Given the description of an element on the screen output the (x, y) to click on. 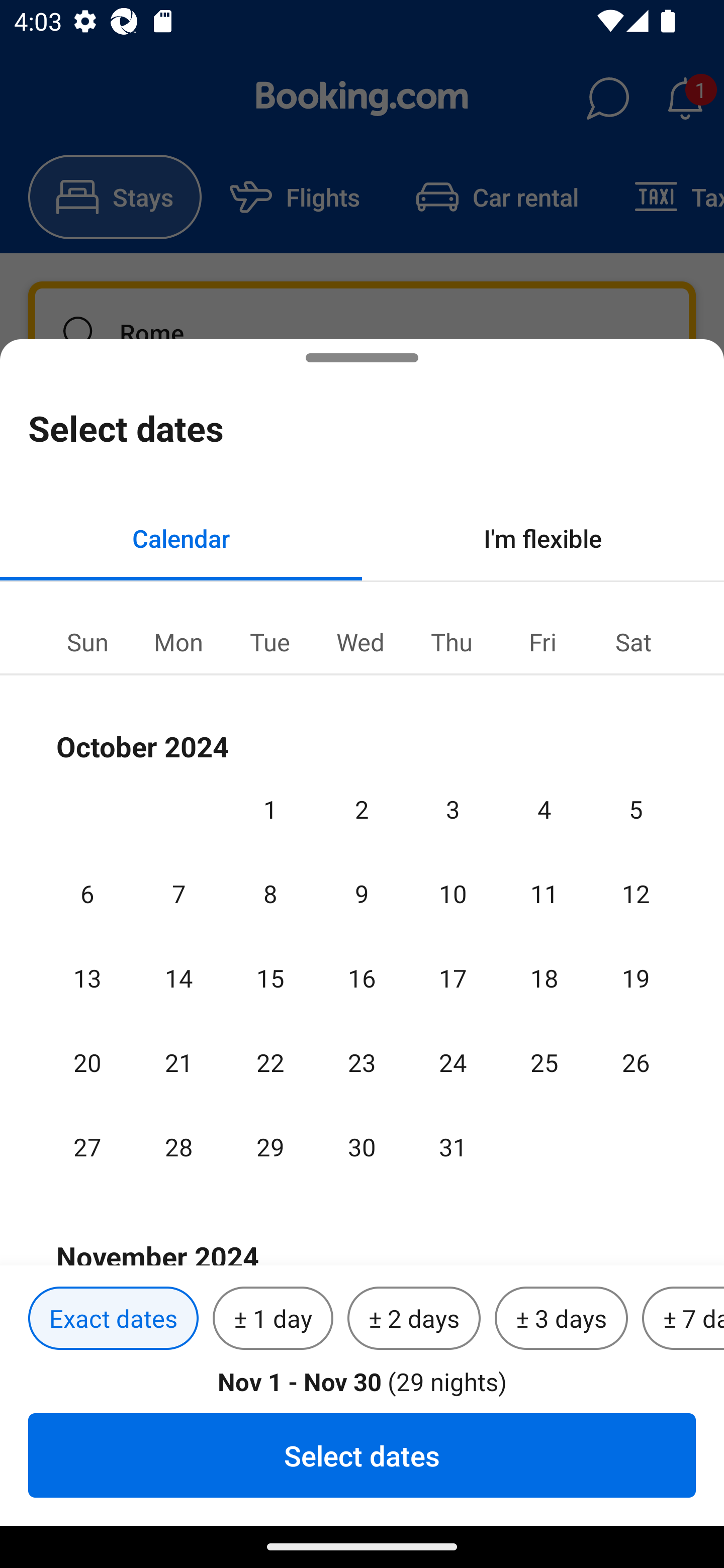
I'm flexible (543, 537)
Exact dates (113, 1318)
± 1 day (272, 1318)
± 2 days (413, 1318)
± 3 days (560, 1318)
± 7 days (683, 1318)
Select dates (361, 1454)
